Given the description of an element on the screen output the (x, y) to click on. 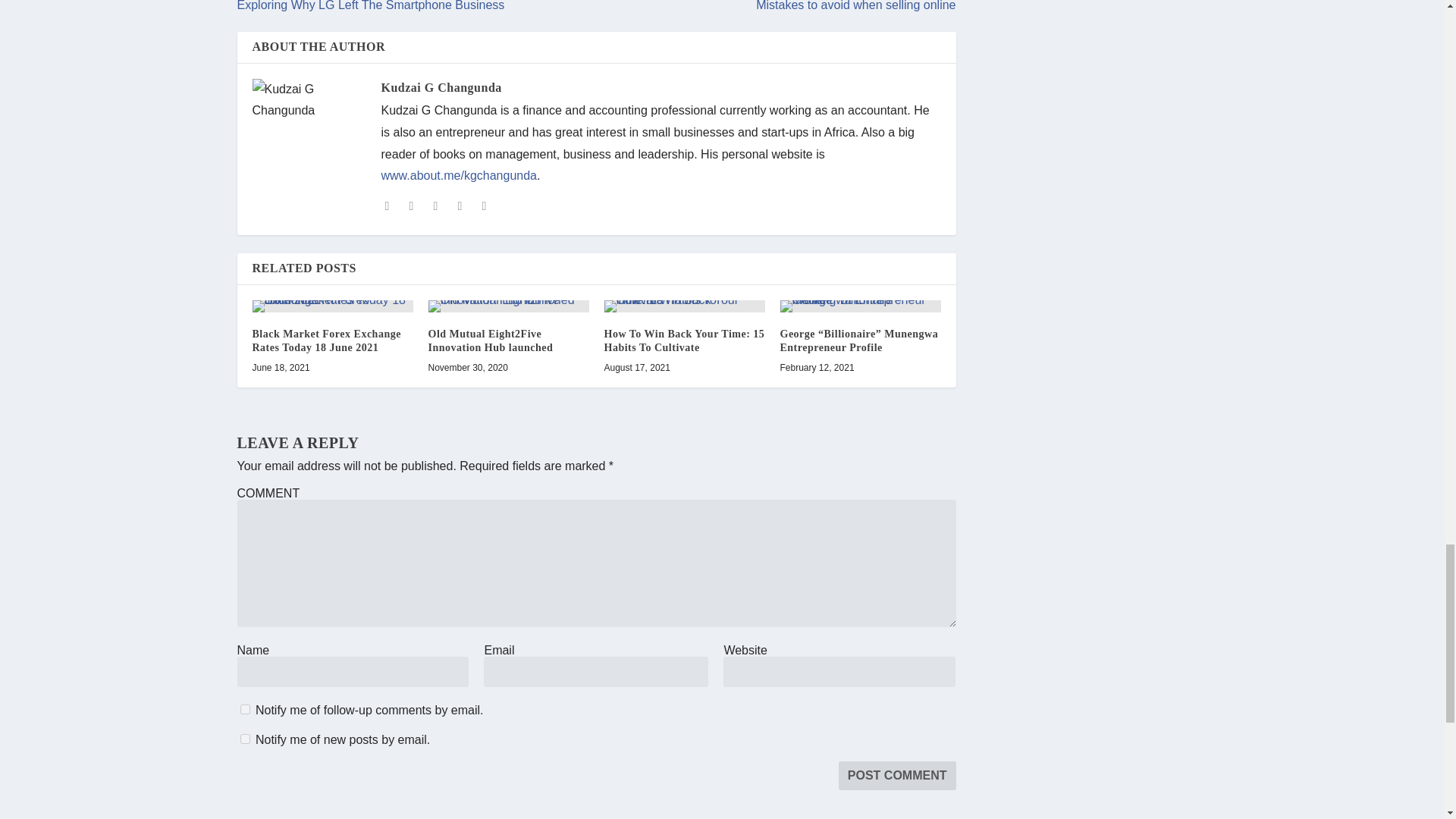
subscribe (244, 738)
Kudzai G Changunda (440, 87)
Post Comment (897, 775)
How To Win Back Your Time: 15 Habits To Cultivate (684, 306)
Black Market Forex Exchange Rates Today 18 June 2021 (331, 306)
subscribe (244, 709)
View all posts by Kudzai G Changunda (440, 87)
Old Mutual Eight2Five Innovation Hub launched (508, 306)
